Given the description of an element on the screen output the (x, y) to click on. 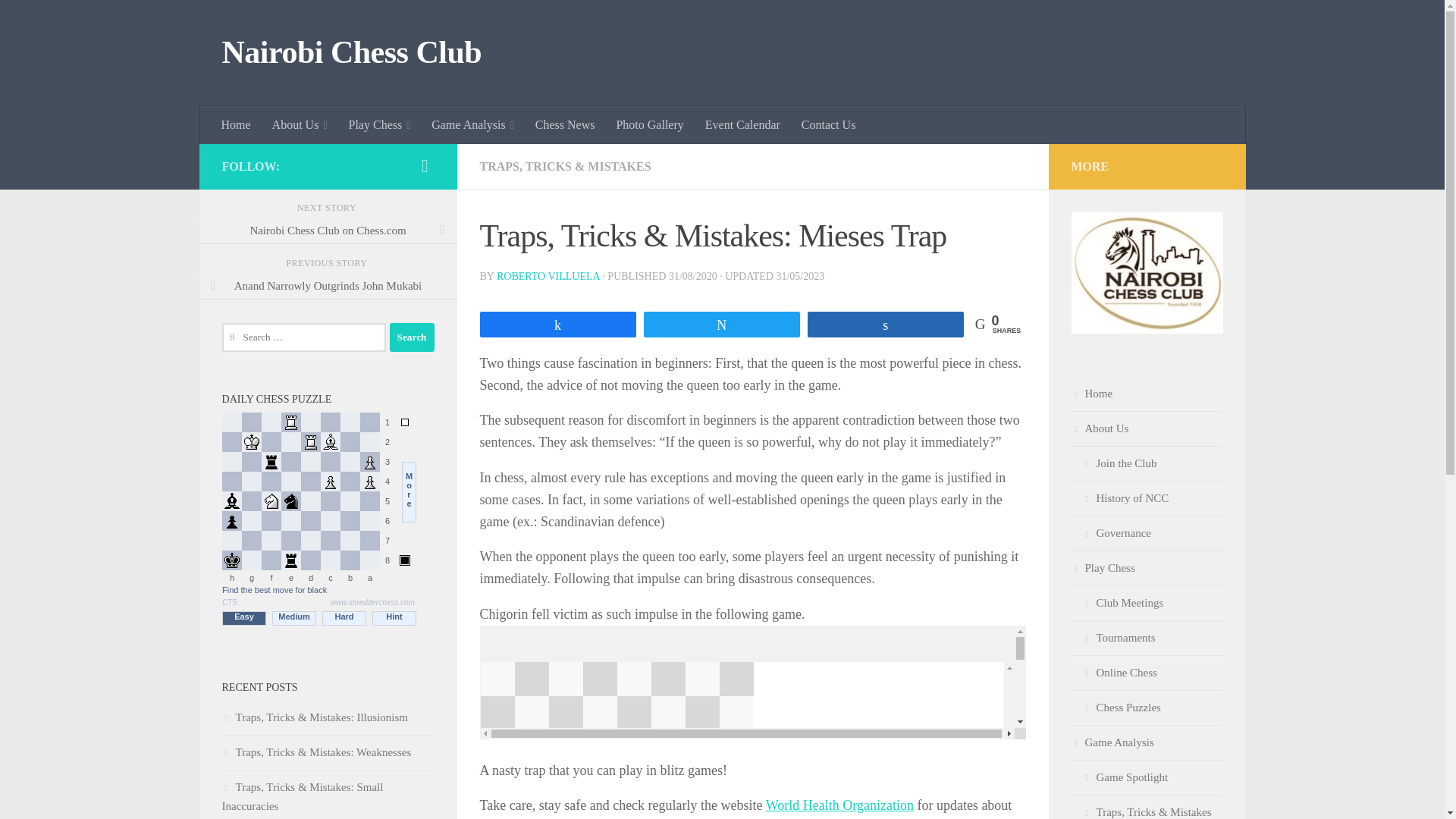
Search (411, 337)
Event Calendar (742, 125)
Follow us on Facebook (423, 166)
Play Chess (379, 125)
Chess News (564, 125)
Contact Us (828, 125)
Home (236, 125)
Photo Gallery (649, 125)
Nairobi Chess Club (351, 53)
Game Analysis (472, 125)
